Given the description of an element on the screen output the (x, y) to click on. 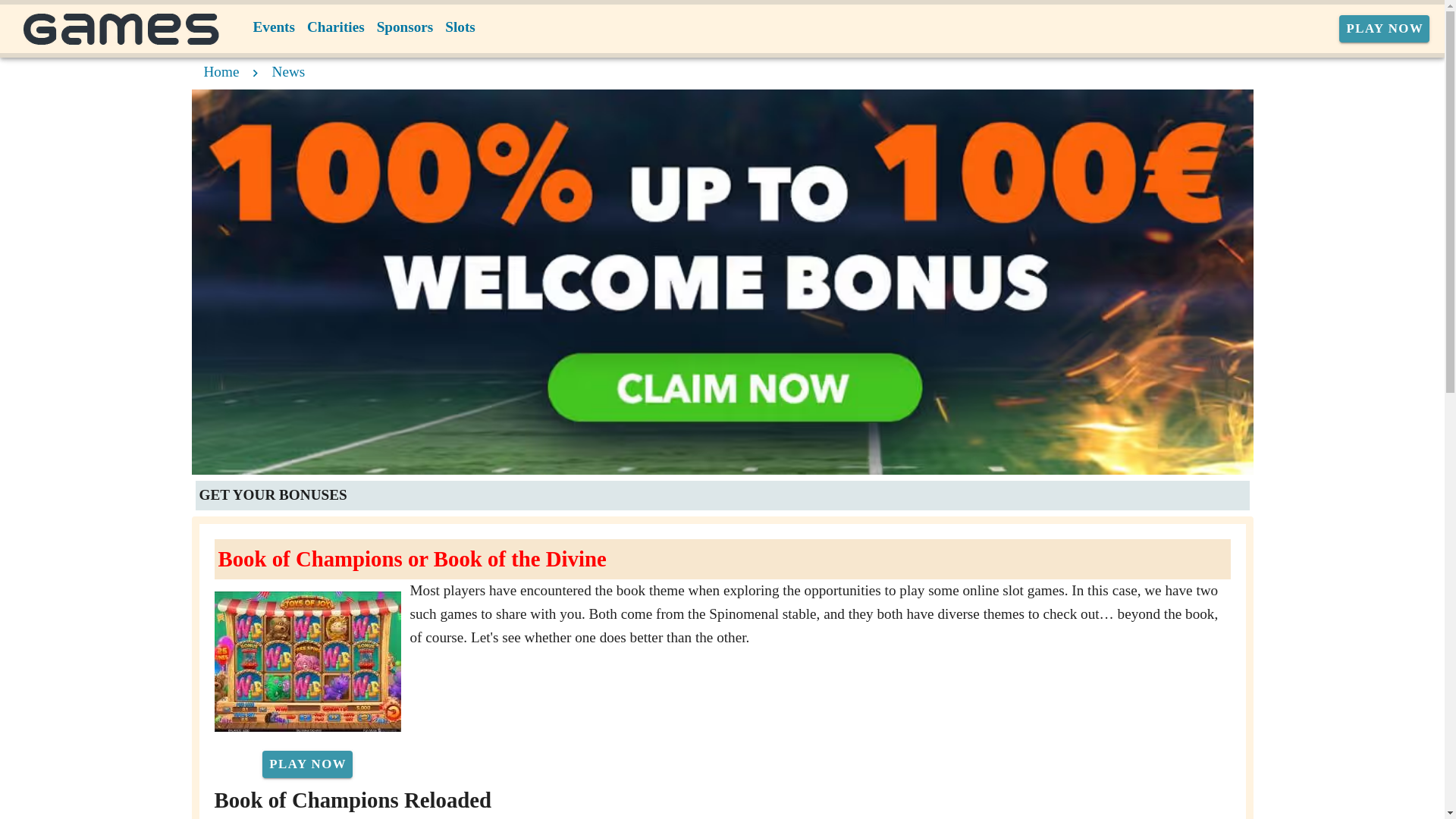
PLAY NOW (1384, 28)
Sponsors (405, 27)
Slots (459, 27)
Events (274, 27)
Charities (336, 27)
News (288, 71)
Home (220, 71)
PLAY NOW (307, 764)
